Given the description of an element on the screen output the (x, y) to click on. 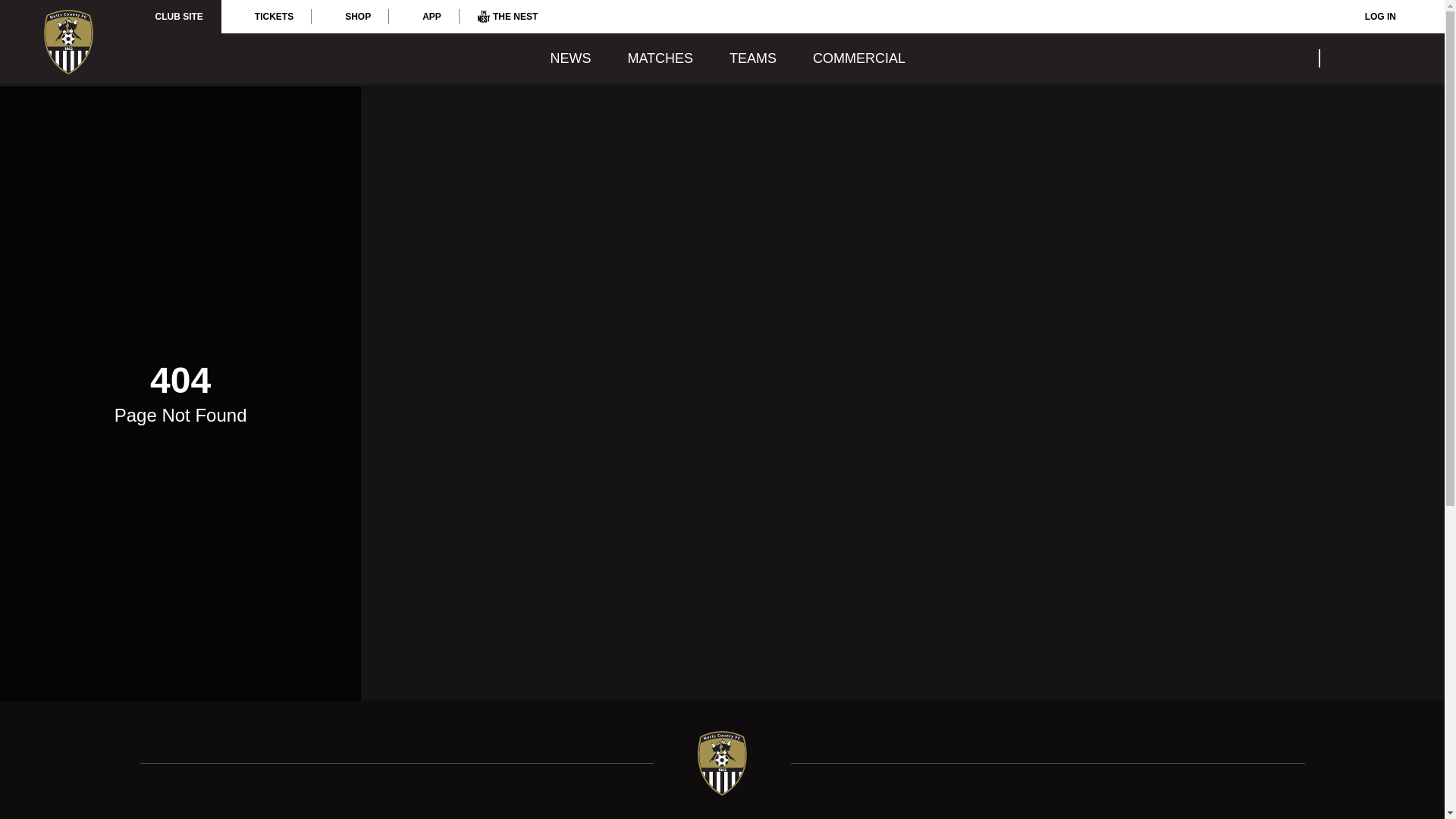
COMMERCIAL (858, 58)
CLUB SITE (178, 16)
TEAMS (752, 58)
NEWS (570, 58)
APP (424, 16)
TICKETS (266, 16)
THE NEST (508, 16)
MATCHES (660, 58)
SHOP (349, 16)
